Given the description of an element on the screen output the (x, y) to click on. 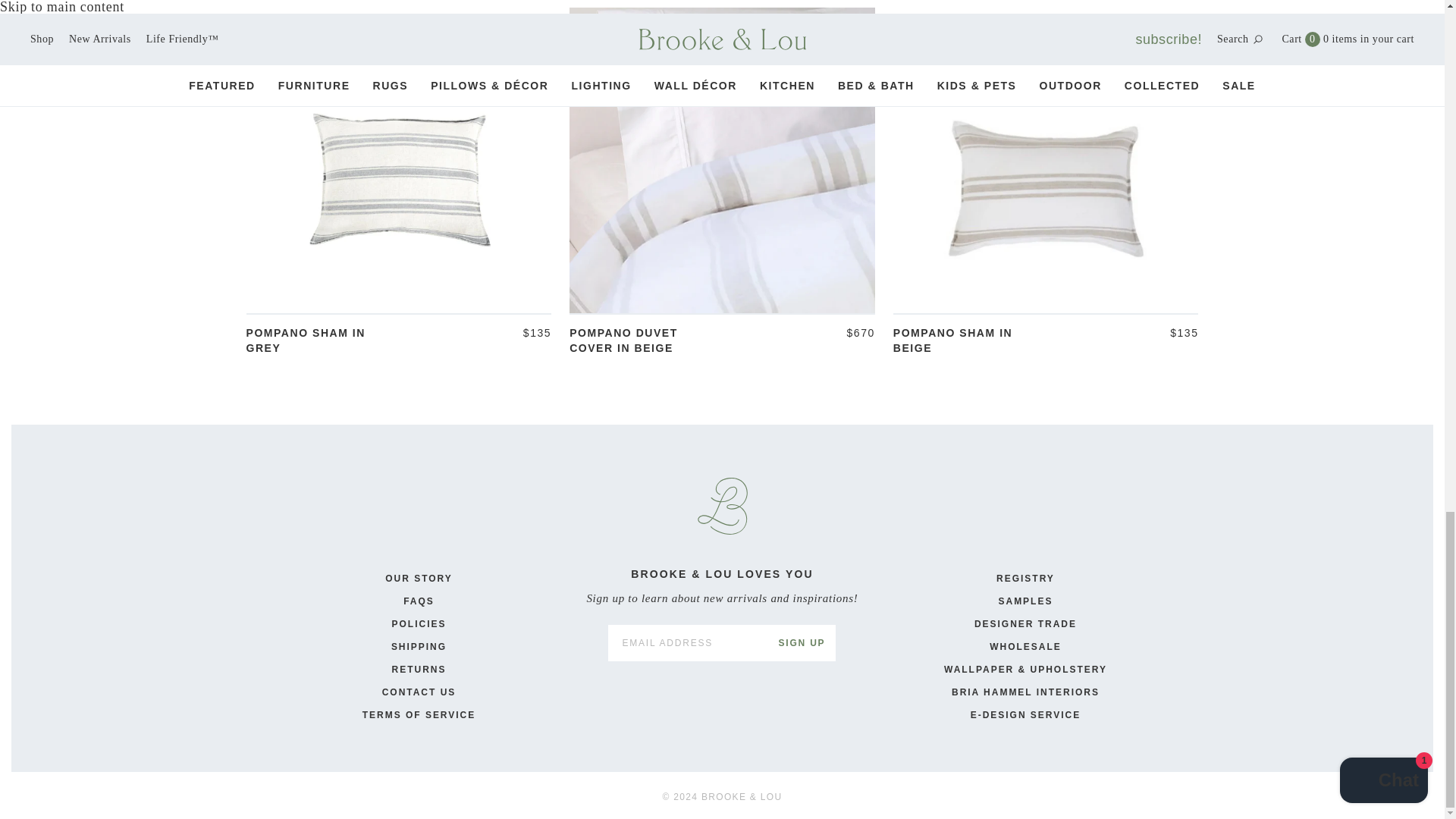
EMAIL ADDRESS (687, 642)
Sign Up (801, 642)
